Given the description of an element on the screen output the (x, y) to click on. 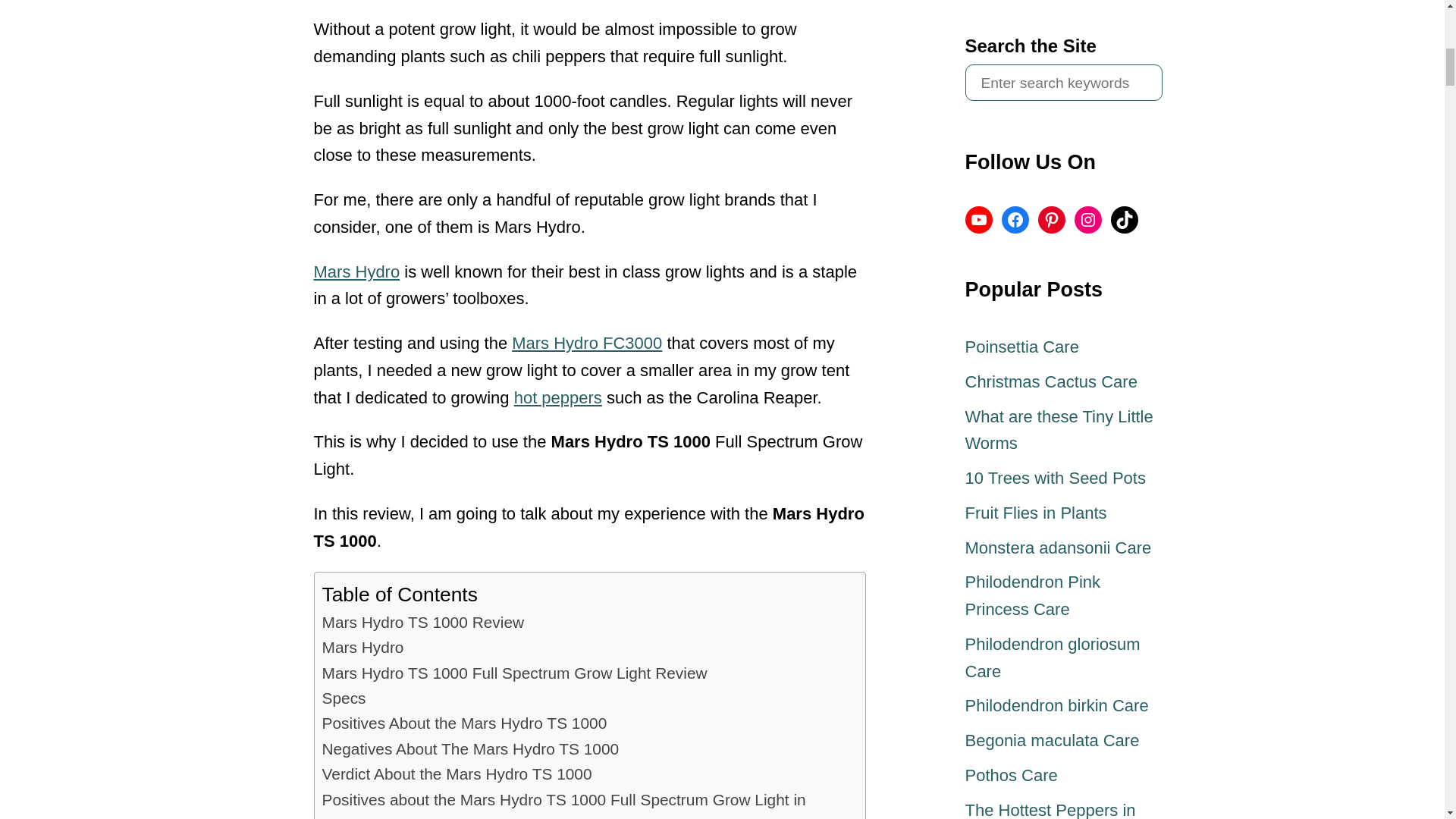
Mars Hydro TS 1000 Full Spectrum Grow Light Review (513, 672)
Positives About the Mars Hydro TS 1000 (464, 722)
Mars Hydro (362, 647)
Verdict About the Mars Hydro TS 1000 (456, 773)
Mars Hydro TS 1000 Review (422, 621)
Negatives About The Mars Hydro TS 1000 (469, 748)
Specs (343, 697)
